Given the description of an element on the screen output the (x, y) to click on. 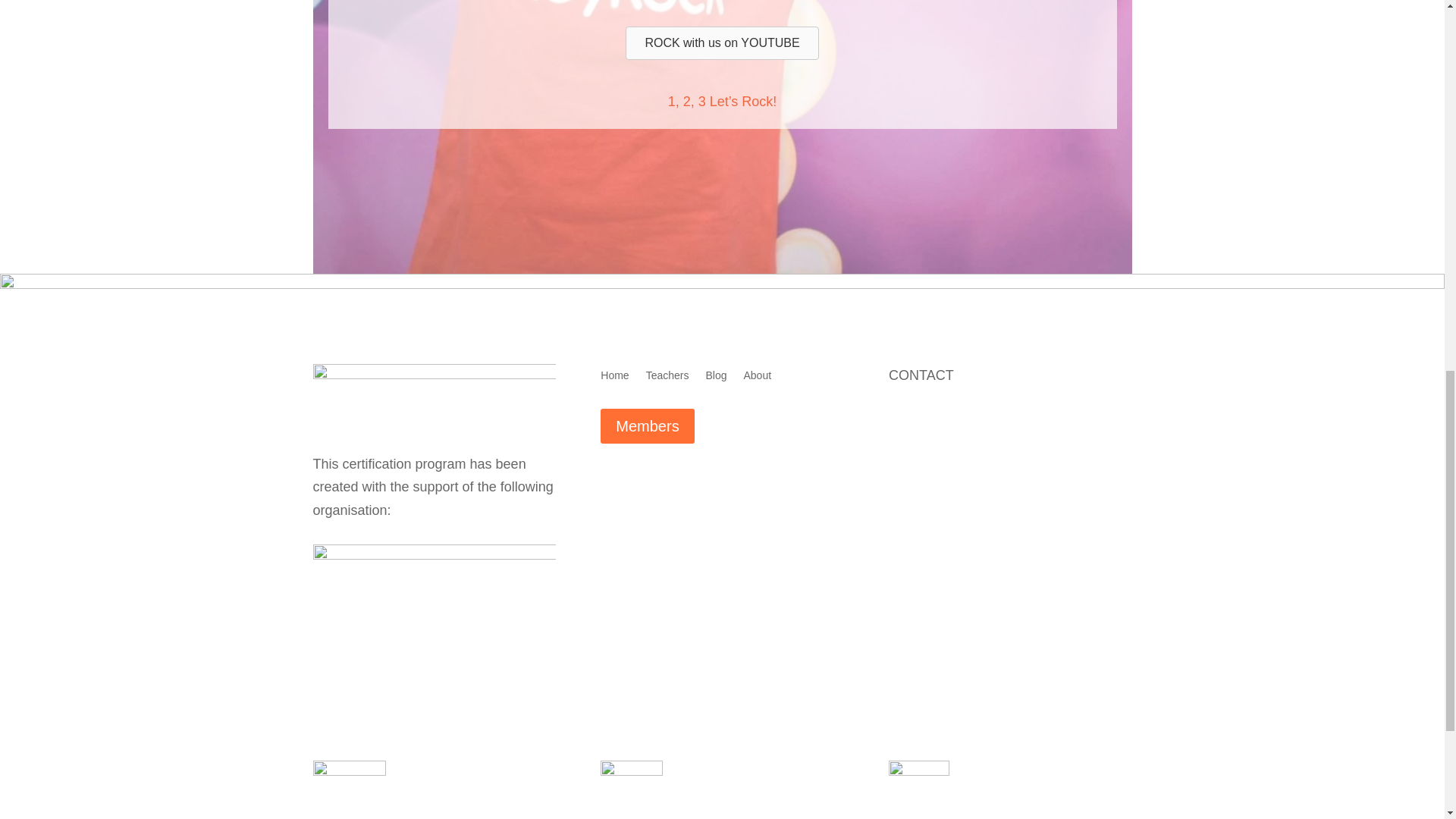
kindyRock GLOW with tagline (433, 396)
youtube (349, 789)
Home (613, 378)
About (756, 378)
Blog (715, 378)
new zealand music commission logo (433, 591)
Teachers (667, 378)
ROCK with us on YOUTUBE (722, 42)
spotify (630, 789)
facebook (918, 789)
